Given the description of an element on the screen output the (x, y) to click on. 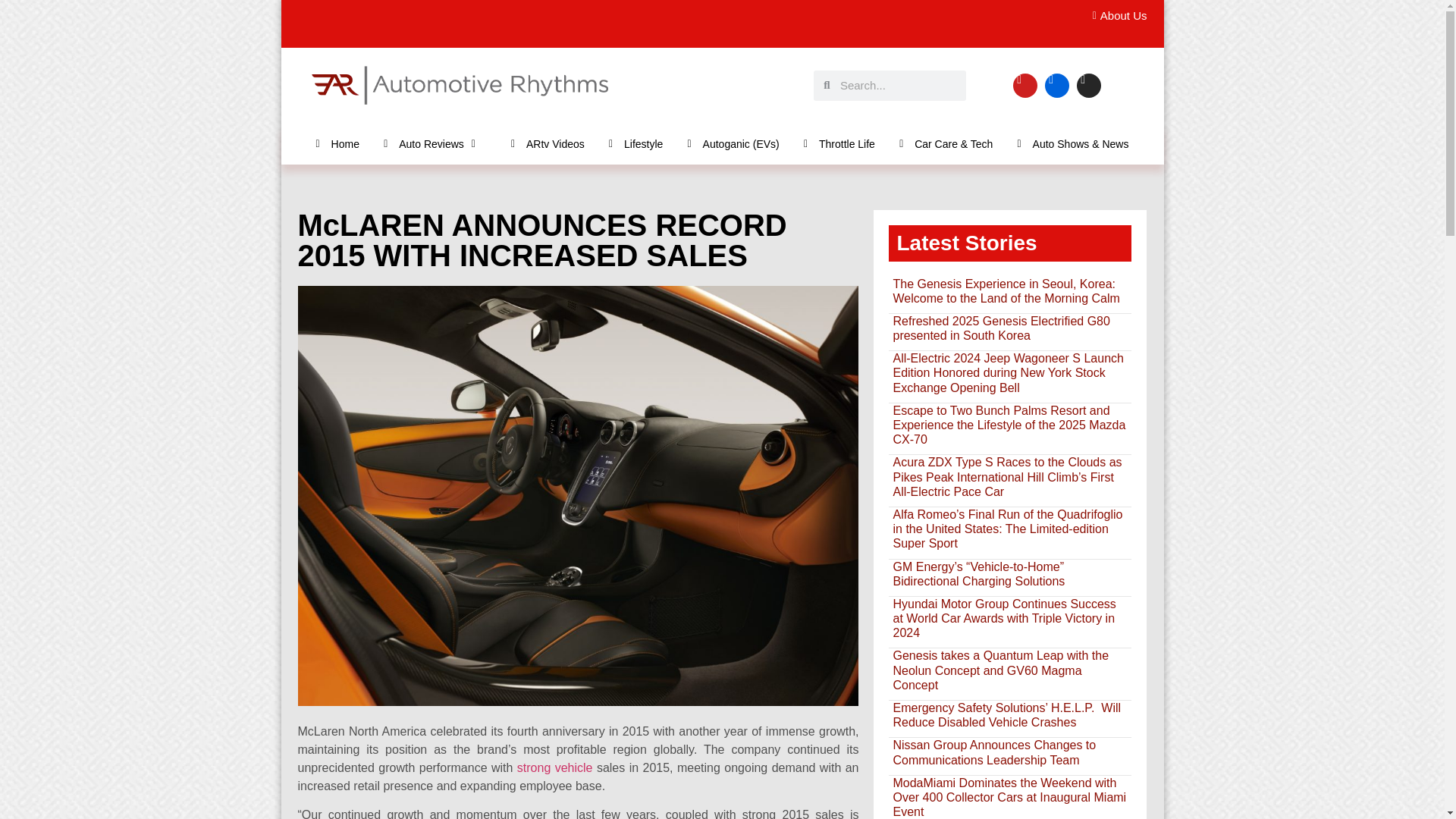
Lifestyle (635, 142)
ARtv Videos (547, 142)
Throttle Life (839, 142)
Home (336, 142)
Auto Reviews (435, 142)
About Us (1115, 16)
strong vehicle (554, 767)
